Given the description of an element on the screen output the (x, y) to click on. 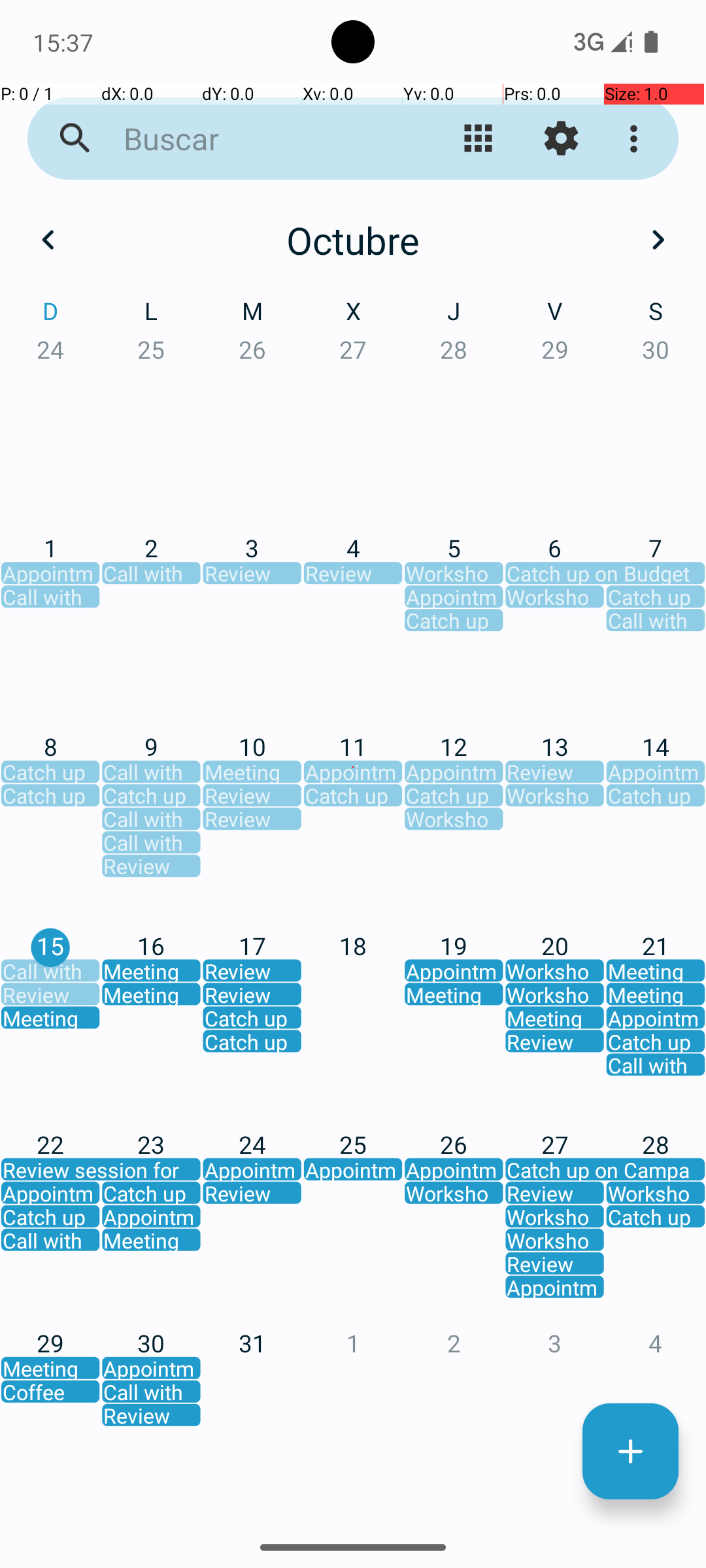
15:37 Element type: android.widget.TextView (64, 41)
